Given the description of an element on the screen output the (x, y) to click on. 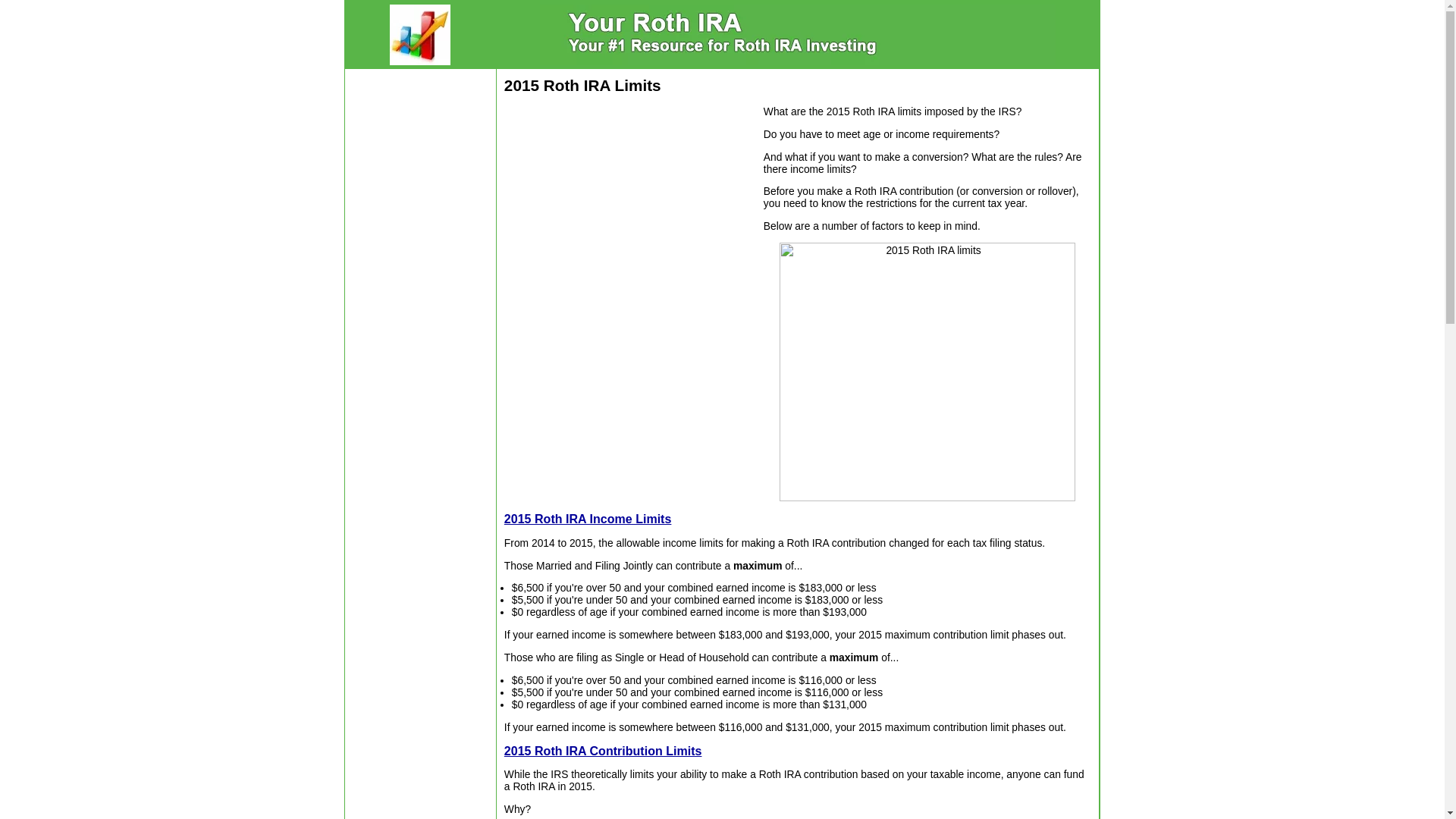
2015 Roth IRA Contribution Limits (602, 749)
Learn more about the 2015 Roth IRA income limits (587, 518)
2015 Roth IRA limits (926, 371)
Your-Roth-IRA.com (419, 34)
2015 Roth IRA Income Limits (587, 518)
return to homepage (797, 34)
Learn more about the 2015 Roth IRA contribution limits (602, 749)
